Given the description of an element on the screen output the (x, y) to click on. 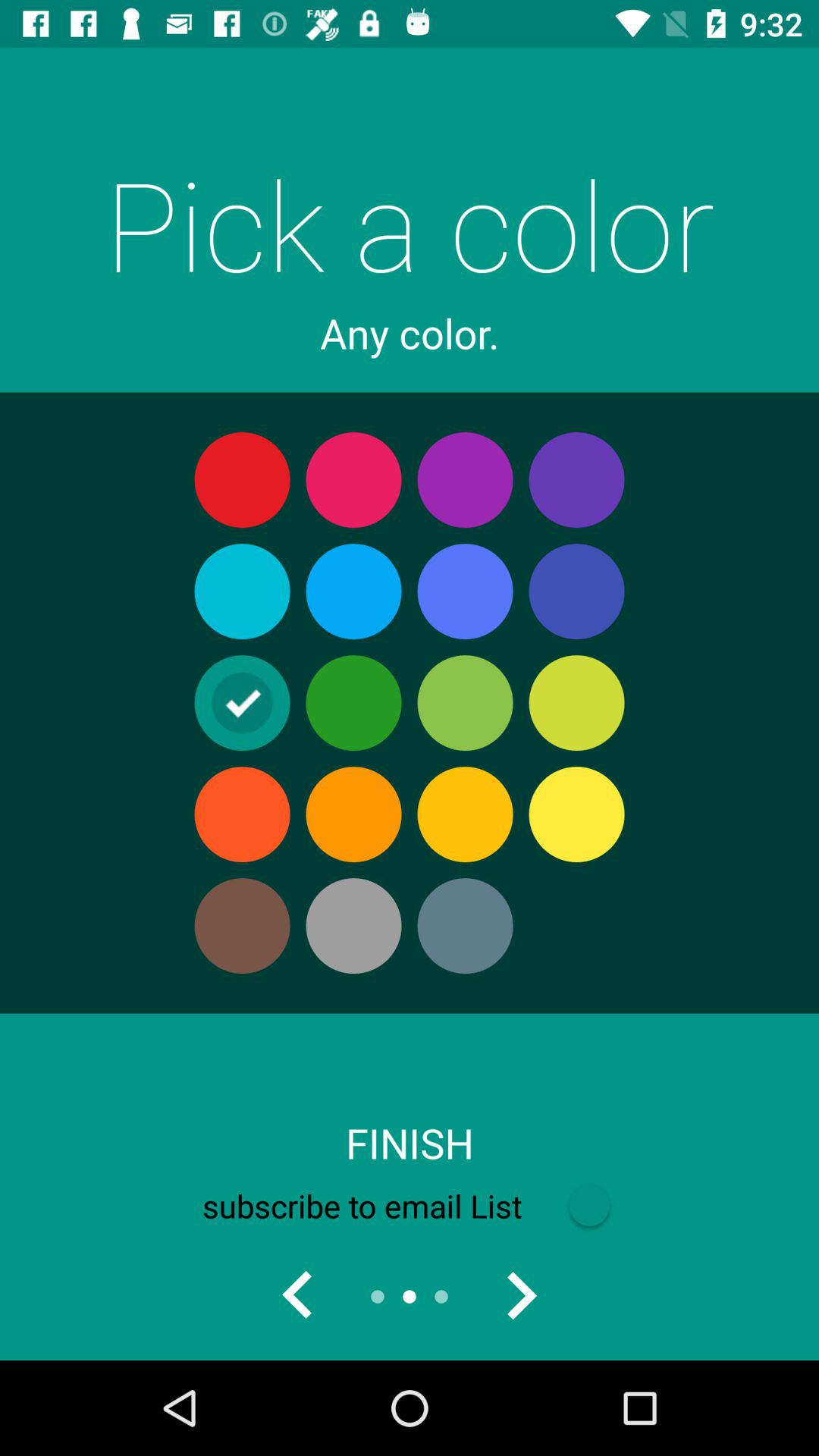
button to activate the preview (297, 1296)
